Given the description of an element on the screen output the (x, y) to click on. 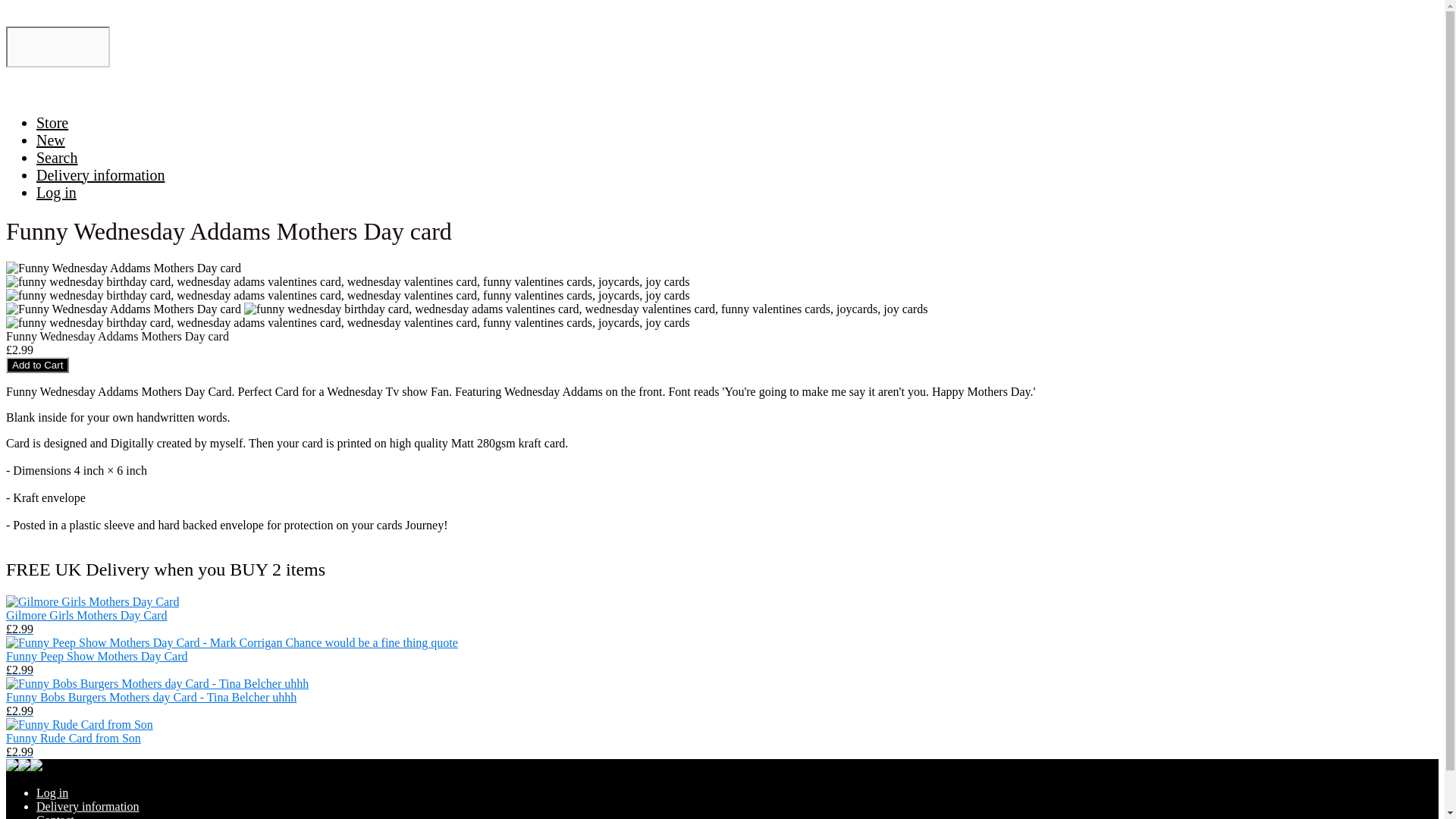
Search (56, 156)
Store (52, 121)
Add to Cart (36, 365)
Log in (52, 792)
Enter the terms you wish to search for. (57, 45)
Add to Cart (36, 365)
Log in (56, 191)
New (50, 139)
Delivery information (100, 175)
Delivery information (87, 806)
